Given the description of an element on the screen output the (x, y) to click on. 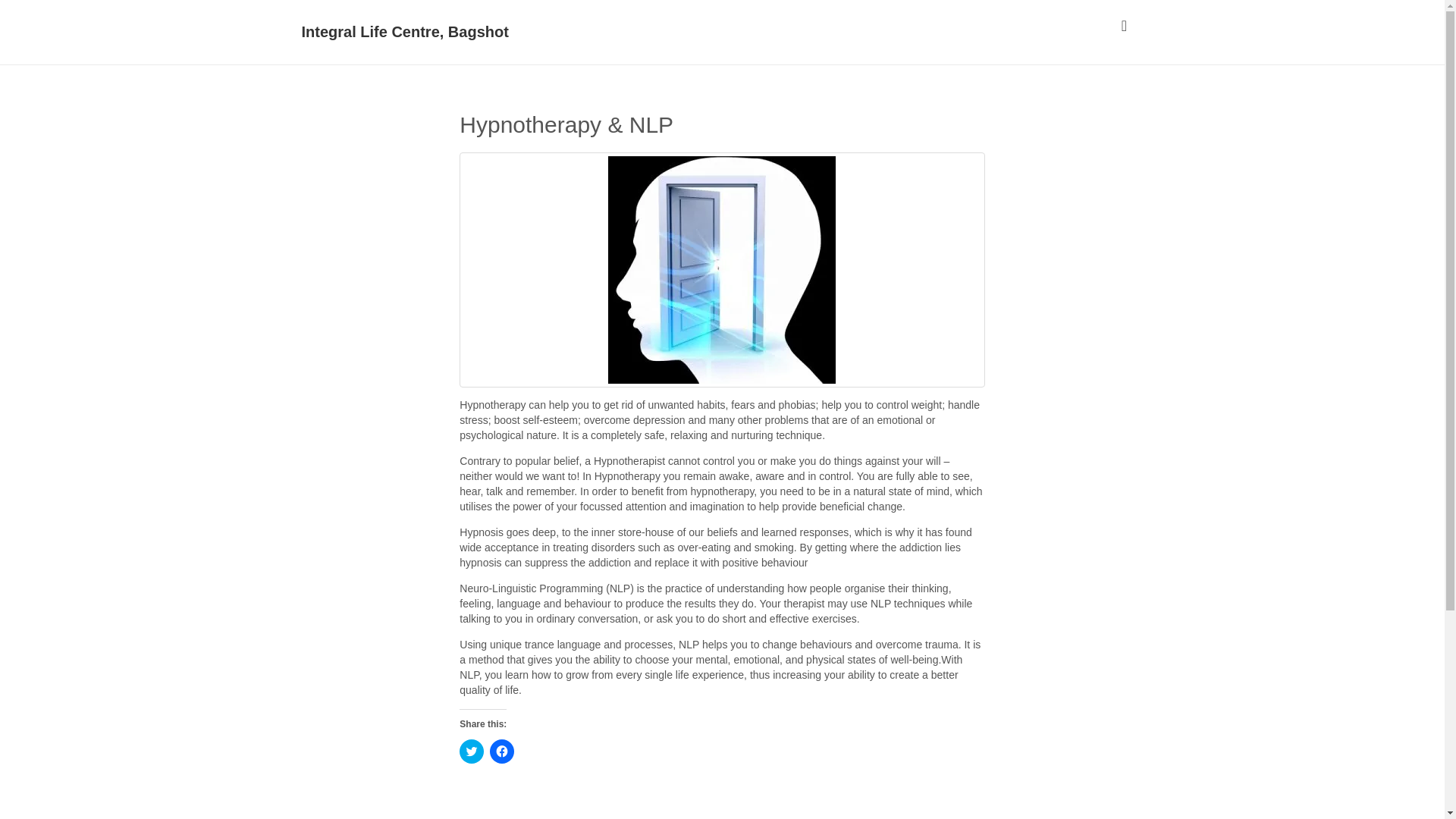
Integral Life Centre, Bagshot (404, 31)
Click to share on Facebook (501, 751)
Click to share on Twitter (471, 751)
Menu (1123, 24)
